Given the description of an element on the screen output the (x, y) to click on. 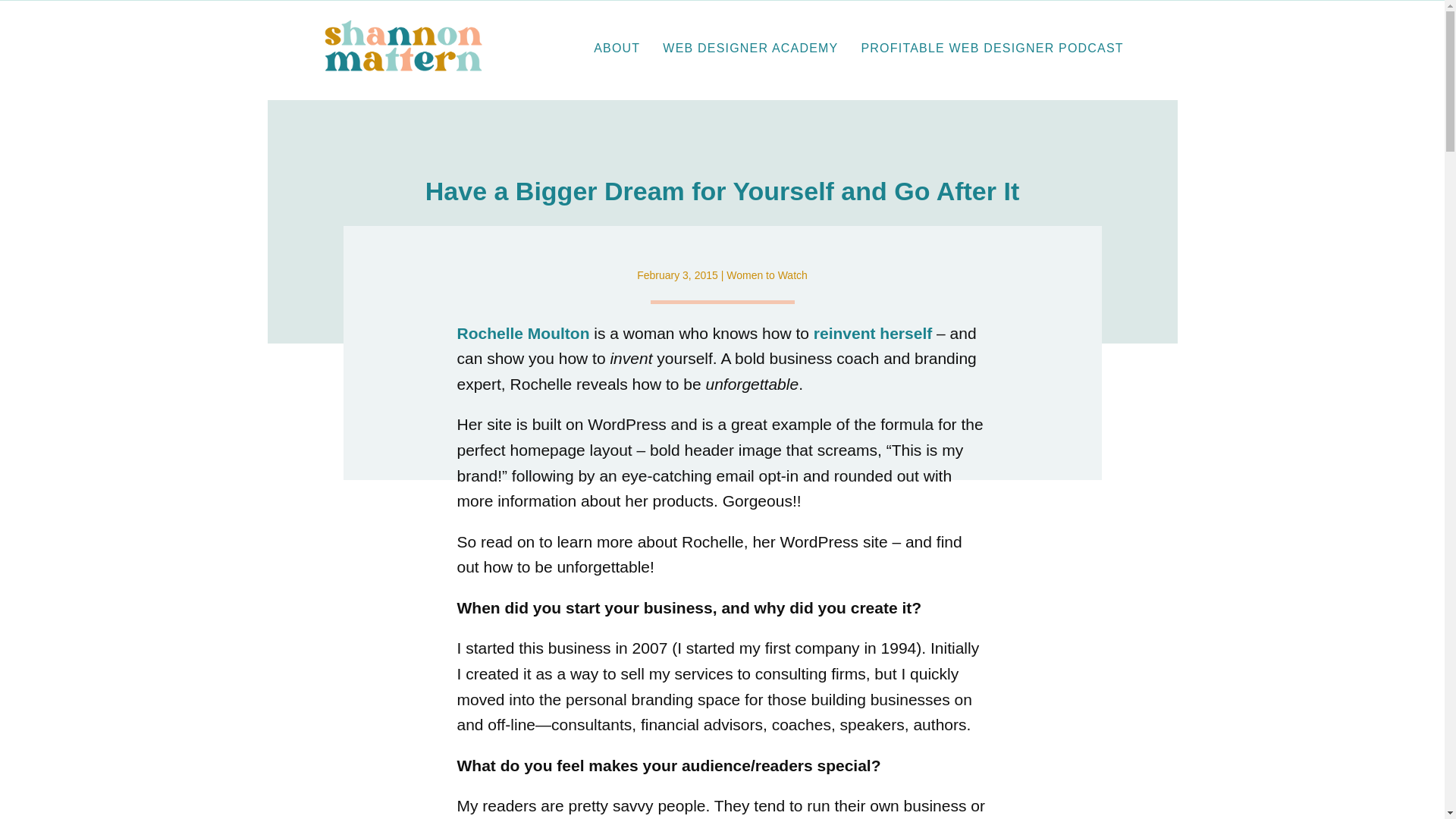
Women to Watch (767, 275)
WEB DESIGNER ACADEMY (750, 48)
reinvent herself (872, 333)
PROFITABLE WEB DESIGNER PODCAST (991, 48)
ABOUT (617, 48)
Rochelle Moulton (523, 333)
